Given the description of an element on the screen output the (x, y) to click on. 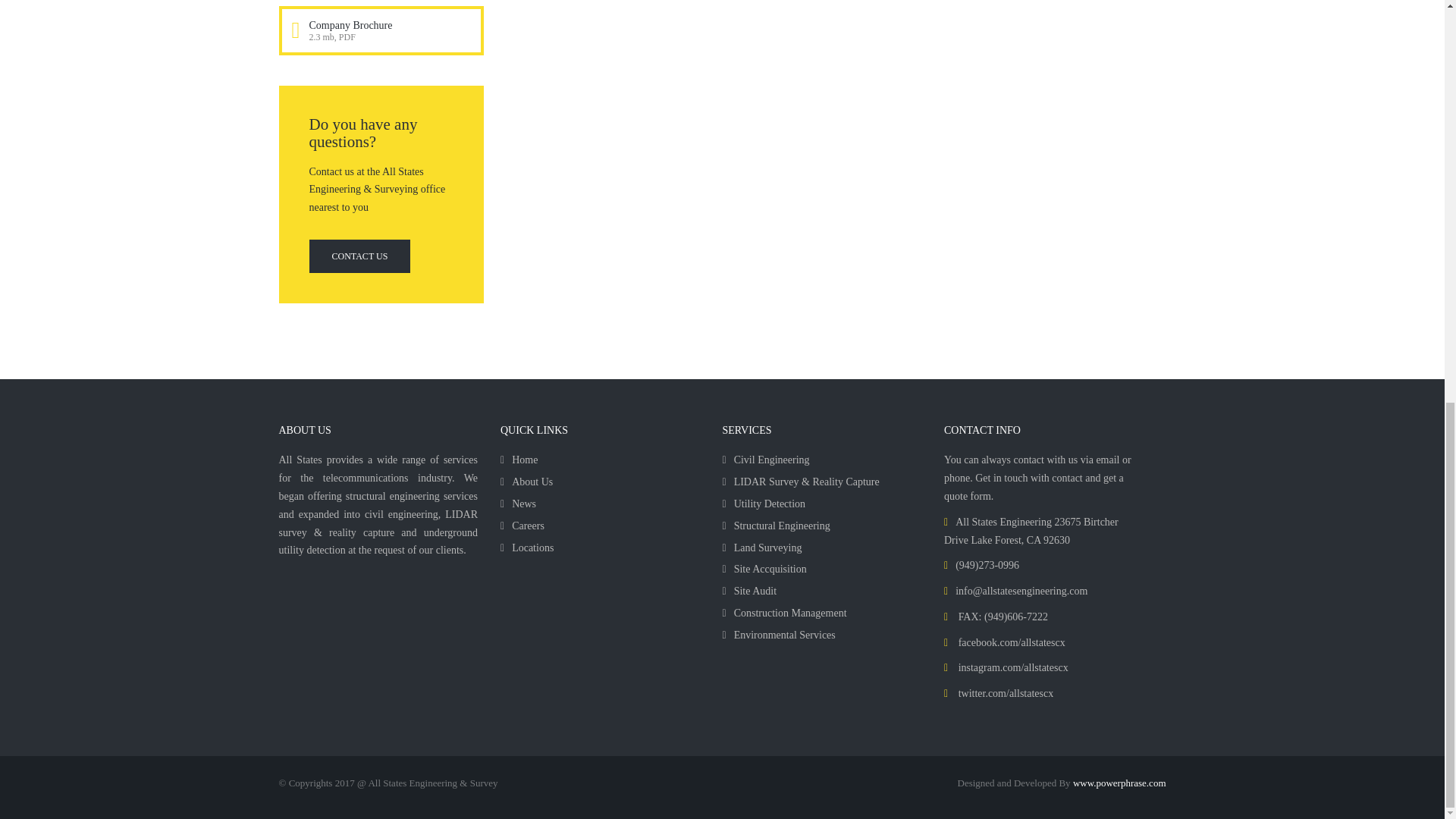
Company Brochure (349, 25)
Locations (526, 547)
Structural Engineering (775, 525)
About Us (526, 481)
Home (518, 460)
Civil Engineering (765, 460)
Careers (522, 525)
Site Accquisition (764, 568)
CONTACT US (359, 255)
Utility Detection (763, 503)
